Given the description of an element on the screen output the (x, y) to click on. 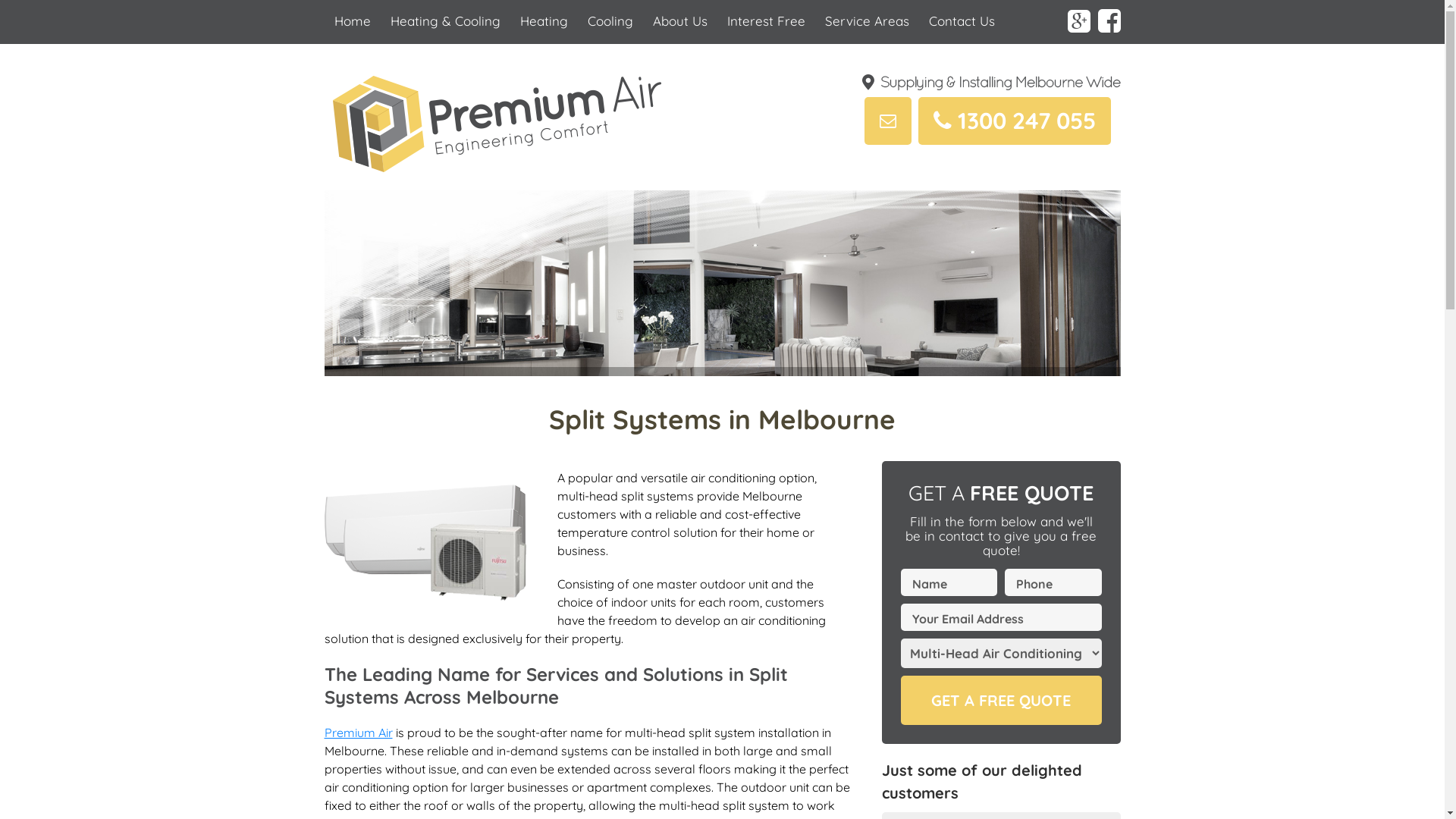
Interest Free Element type: text (766, 20)
1300 247 055 Element type: text (1015, 102)
Service Areas Element type: text (866, 20)
Heating Element type: text (543, 20)
Contact Us Element type: text (961, 20)
About Us Element type: text (680, 20)
Premium Air Element type: text (358, 732)
Heating & Cooling Element type: text (445, 20)
Cooling Element type: text (610, 20)
Home Element type: text (352, 20)
